Given the description of an element on the screen output the (x, y) to click on. 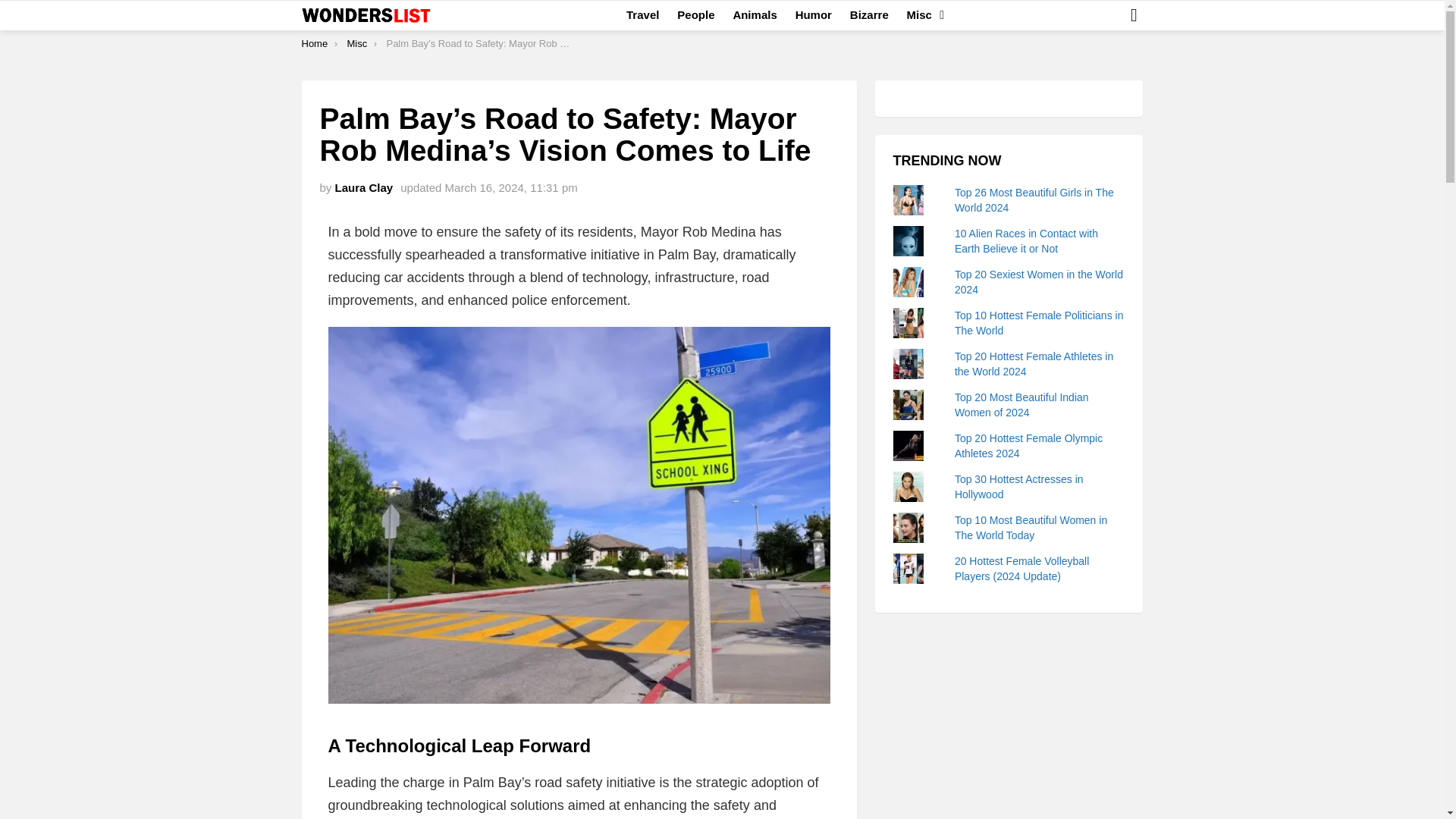
Animals (754, 15)
Travel (642, 15)
10 Alien Races in Contact with Earth Believe it or Not (1026, 240)
Misc (356, 43)
Top 20 Sexiest Women in the World 2024 (1038, 281)
Bizarre (869, 15)
Top 26 Most Beautiful Girls in The World 2024 (1034, 199)
People (695, 15)
Misc (921, 15)
Laura Clay (363, 187)
Home (315, 43)
Posts by Laura Clay (363, 187)
Humor (813, 15)
